Given the description of an element on the screen output the (x, y) to click on. 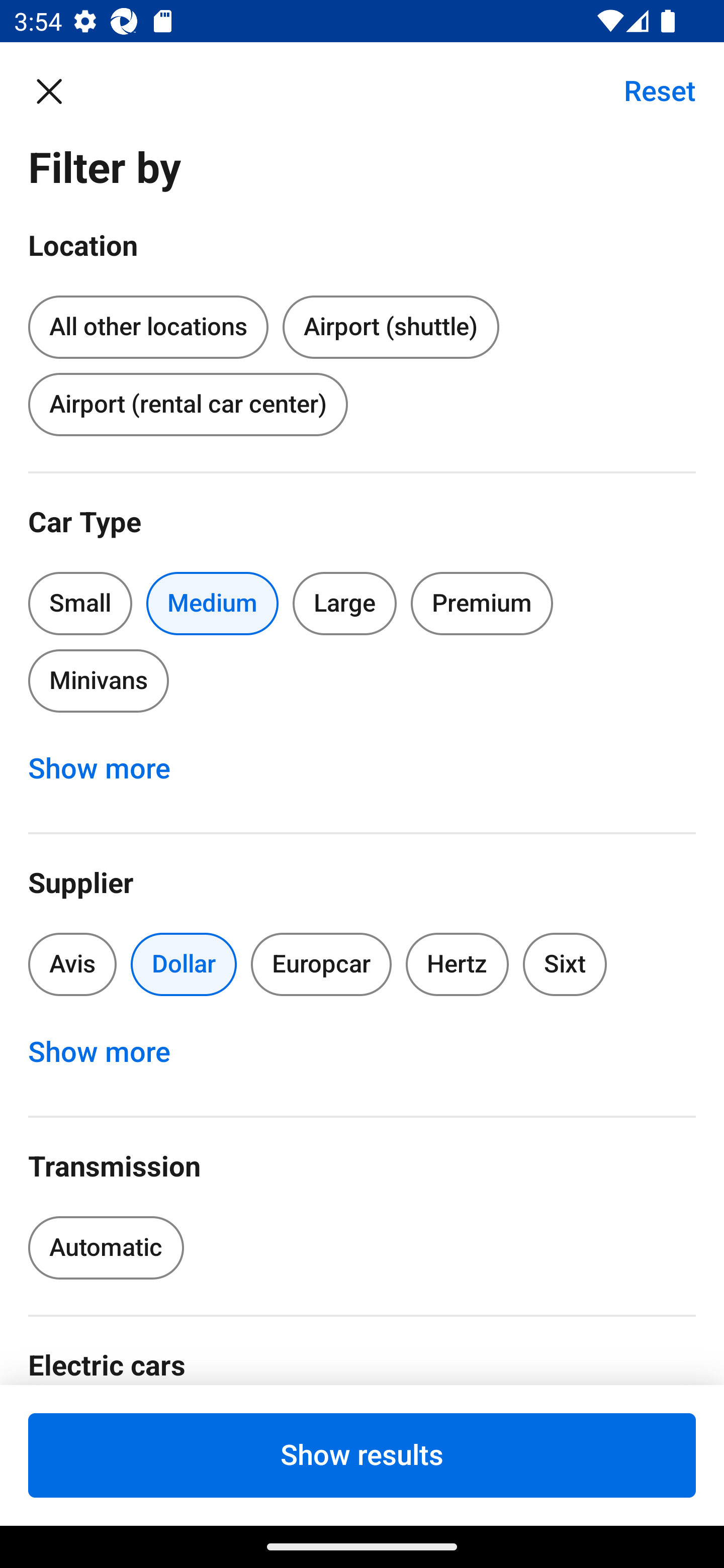
Close (59, 90)
Reset (649, 90)
All other locations (148, 323)
Airport (shuttle) (390, 327)
Airport (rental car center) (187, 404)
Small (80, 603)
Large (344, 603)
Premium (482, 603)
Minivans (98, 680)
Show more (109, 767)
Avis (72, 963)
Europcar (321, 963)
Hertz (457, 963)
Sixt (564, 963)
Show more (109, 1051)
Automatic (105, 1247)
Show results (361, 1454)
